Given the description of an element on the screen output the (x, y) to click on. 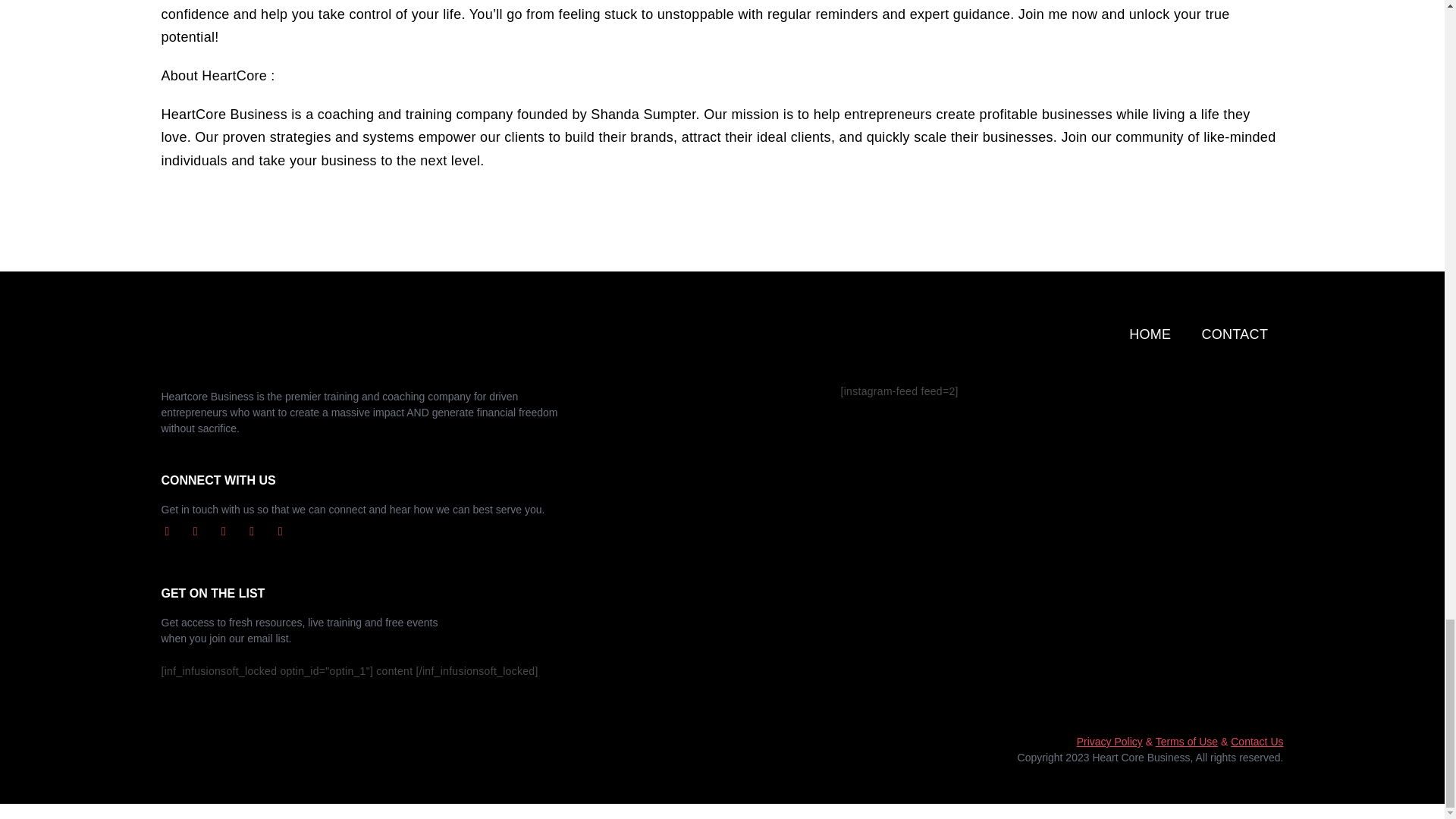
Contact Us (1256, 741)
Privacy Policy (1109, 741)
HOME (1149, 334)
Terms of Use (1186, 741)
CONTACT (1234, 334)
